Given the description of an element on the screen output the (x, y) to click on. 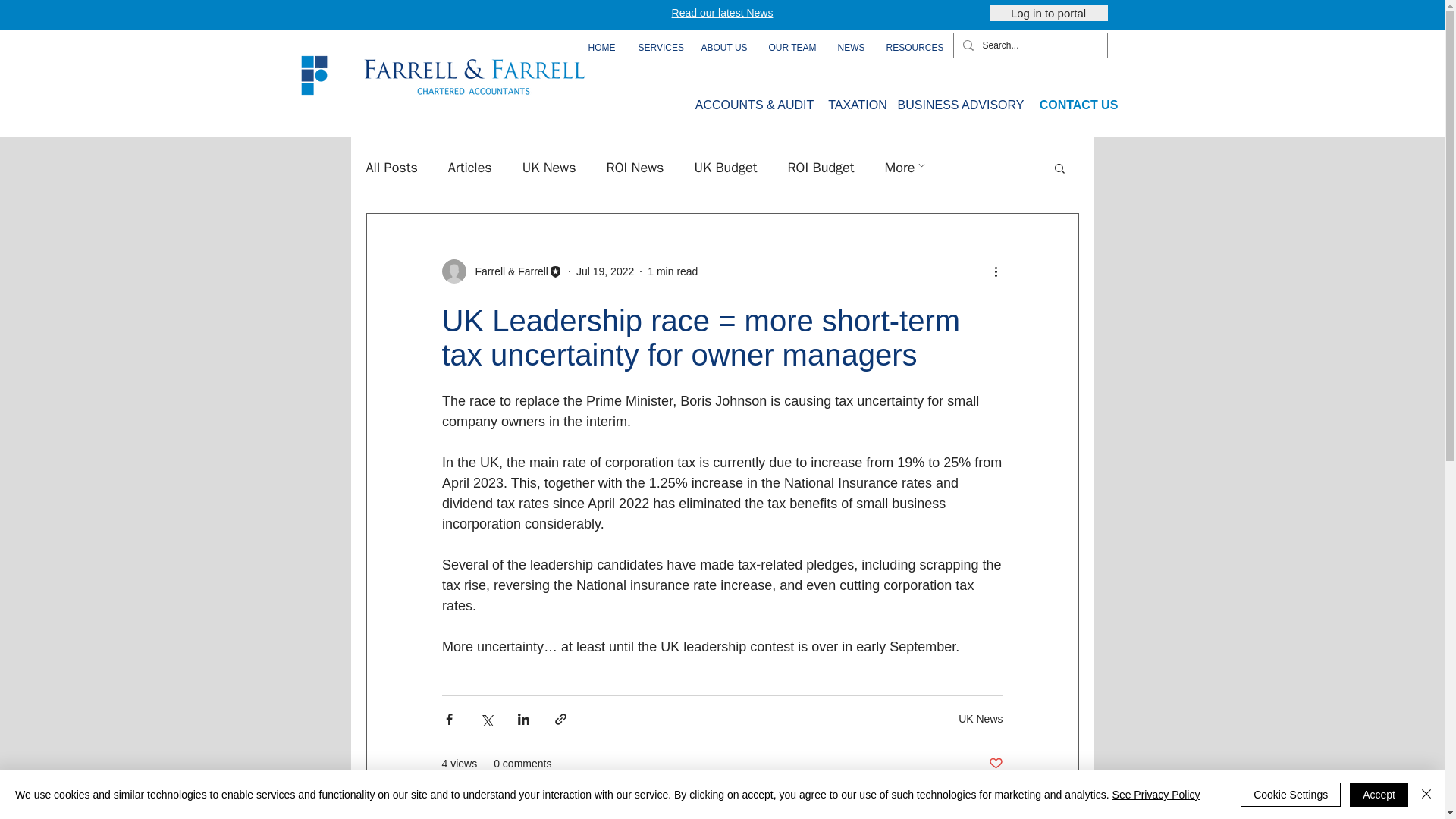
OUR TEAM (791, 47)
ROI News (635, 167)
Read our latest News (722, 12)
RESOURCES (912, 47)
BUSINESS ADVISORY (961, 104)
HOME (601, 47)
UK News (549, 167)
UK Budget (725, 167)
NEWS (851, 47)
SERVICES (657, 47)
